Given the description of an element on the screen output the (x, y) to click on. 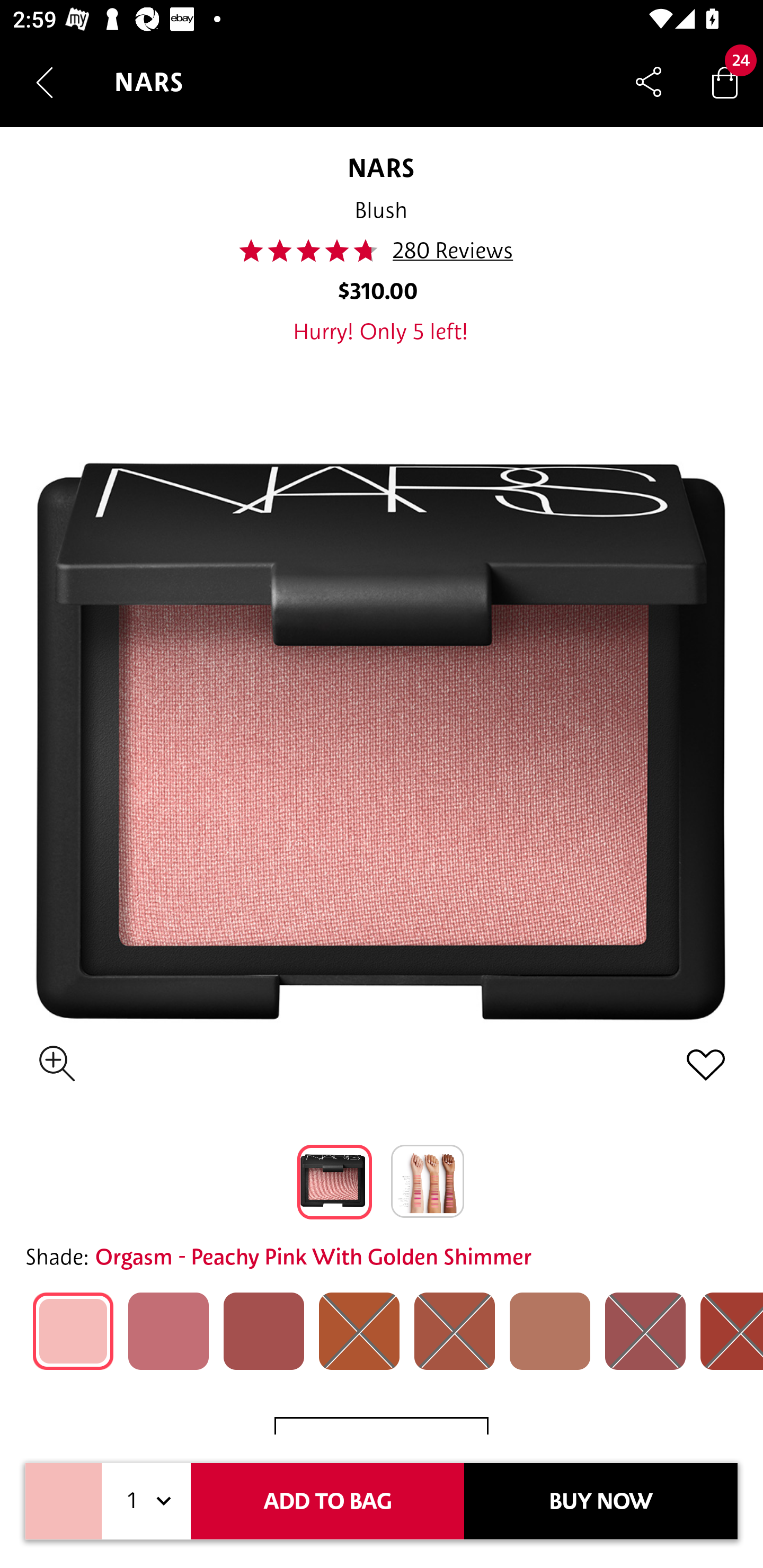
Navigate up (44, 82)
Share (648, 81)
Bag (724, 81)
NARS (380, 167)
47.0 280 Reviews (381, 250)
1 (145, 1500)
ADD TO BAG (326, 1500)
BUY NOW (600, 1500)
